Given the description of an element on the screen output the (x, y) to click on. 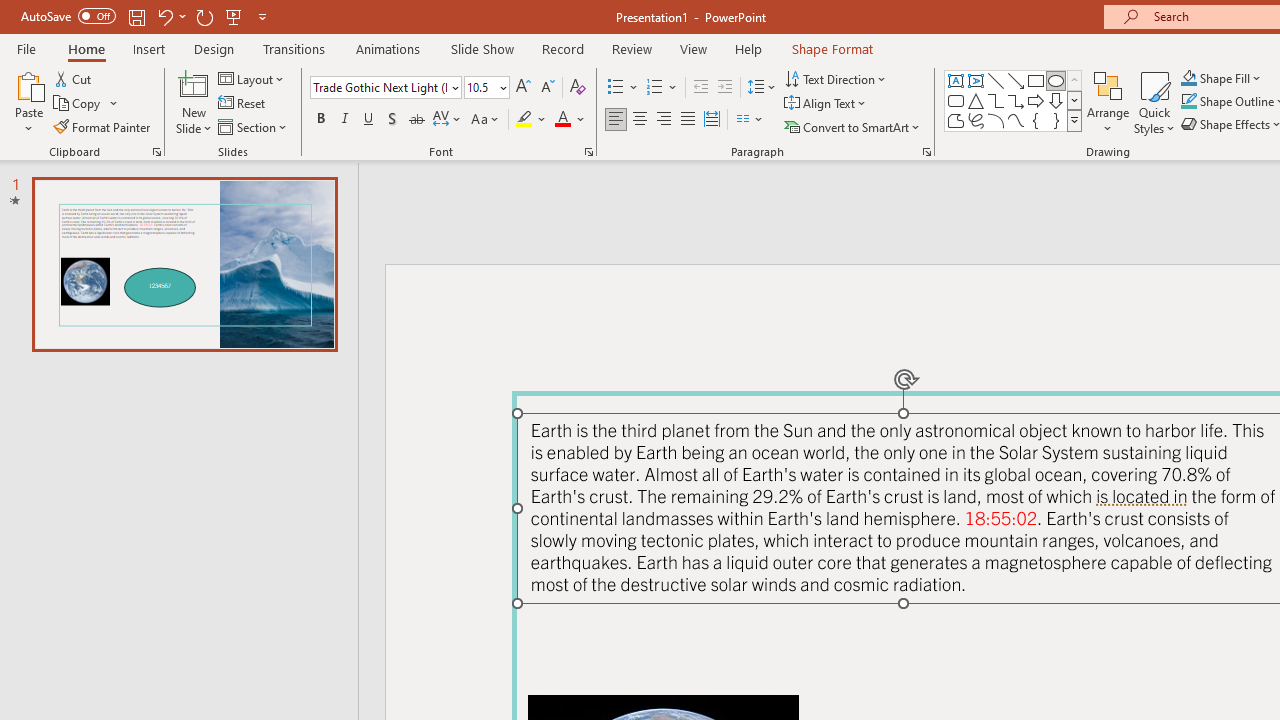
Shape Outline Teal, Accent 1 (1188, 101)
